Given the description of an element on the screen output the (x, y) to click on. 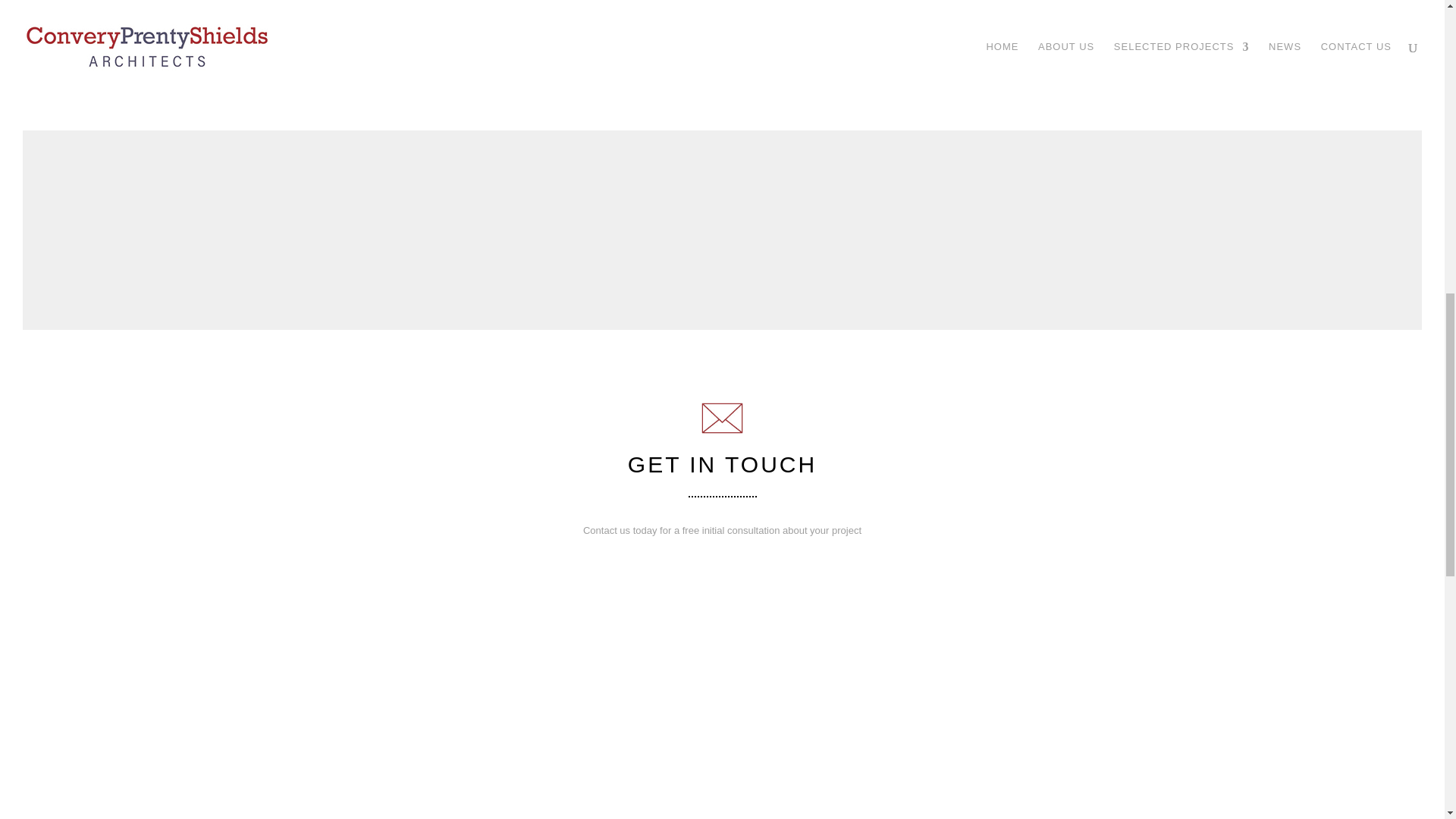
letter-icon-v2 (721, 418)
